Given the description of an element on the screen output the (x, y) to click on. 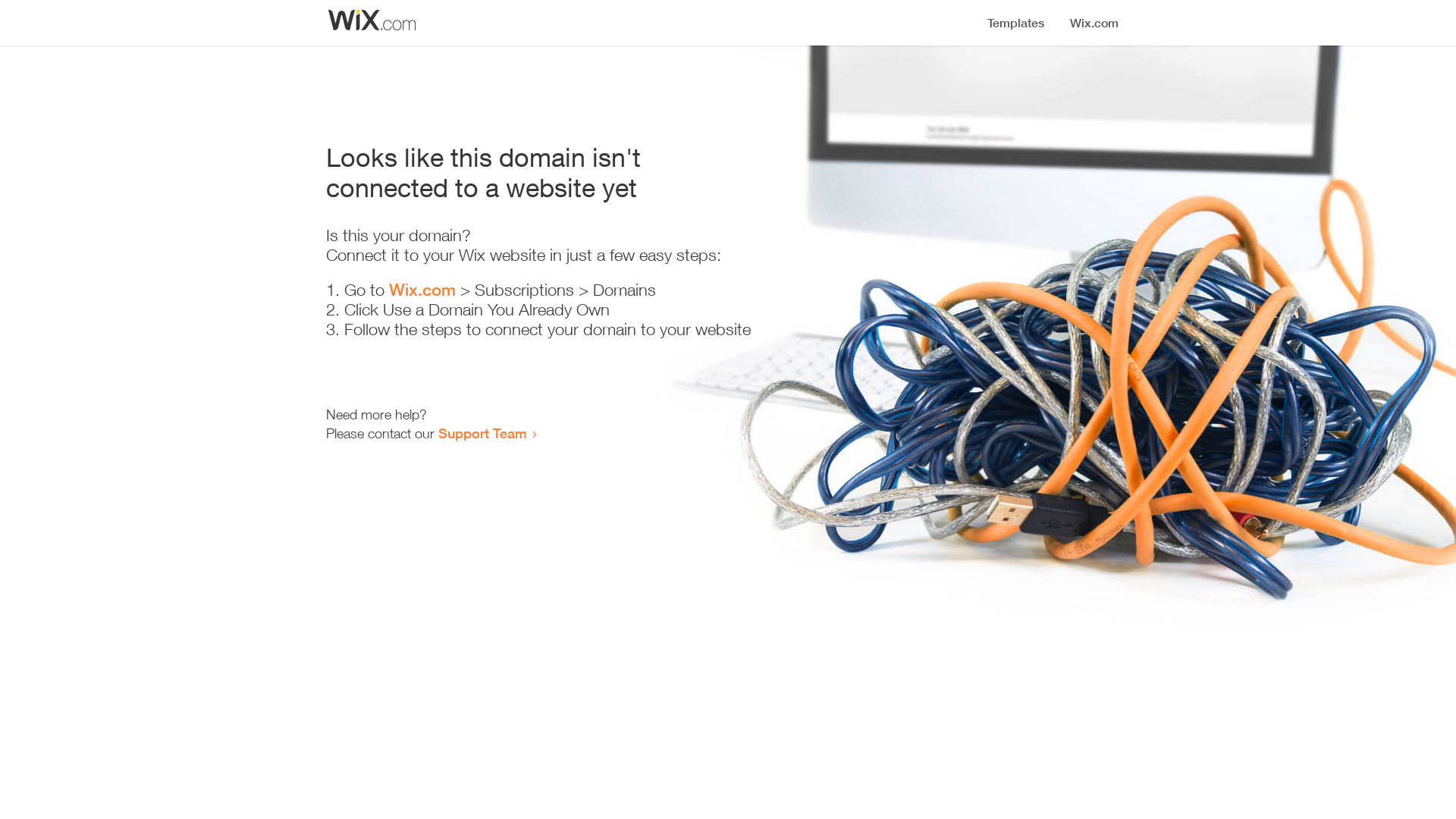
Support Team Element type: text (482, 432)
Wix.com Element type: text (422, 289)
